Given the description of an element on the screen output the (x, y) to click on. 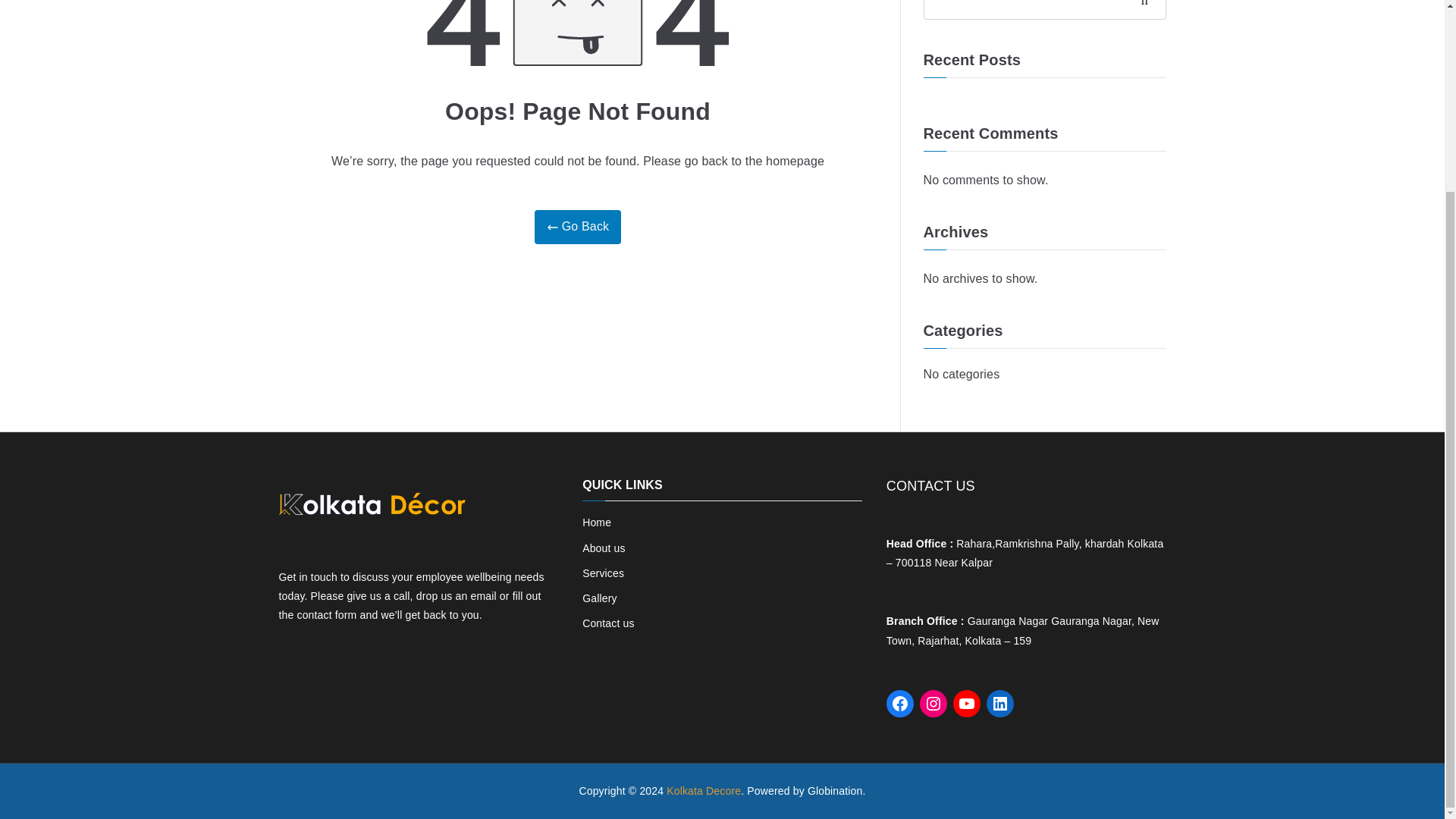
Home (721, 522)
Kolkata Decore (703, 790)
Search (1147, 9)
Services (721, 573)
Go Back (577, 226)
About us (721, 547)
Kolkata Decore (703, 790)
Contact us (721, 623)
Gallery (721, 598)
